Given the description of an element on the screen output the (x, y) to click on. 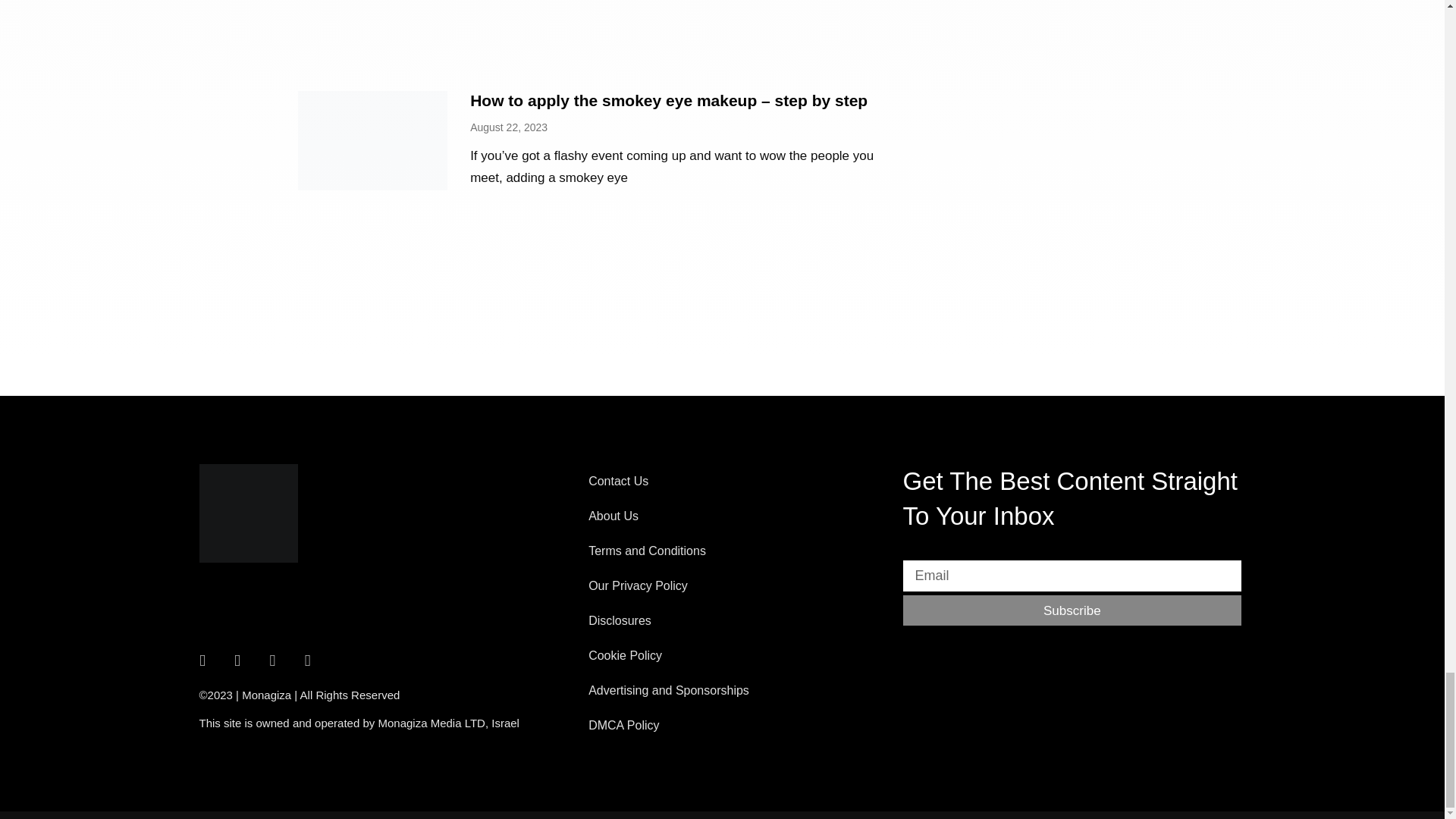
About Us (737, 515)
Contact Us (737, 481)
